Given the description of an element on the screen output the (x, y) to click on. 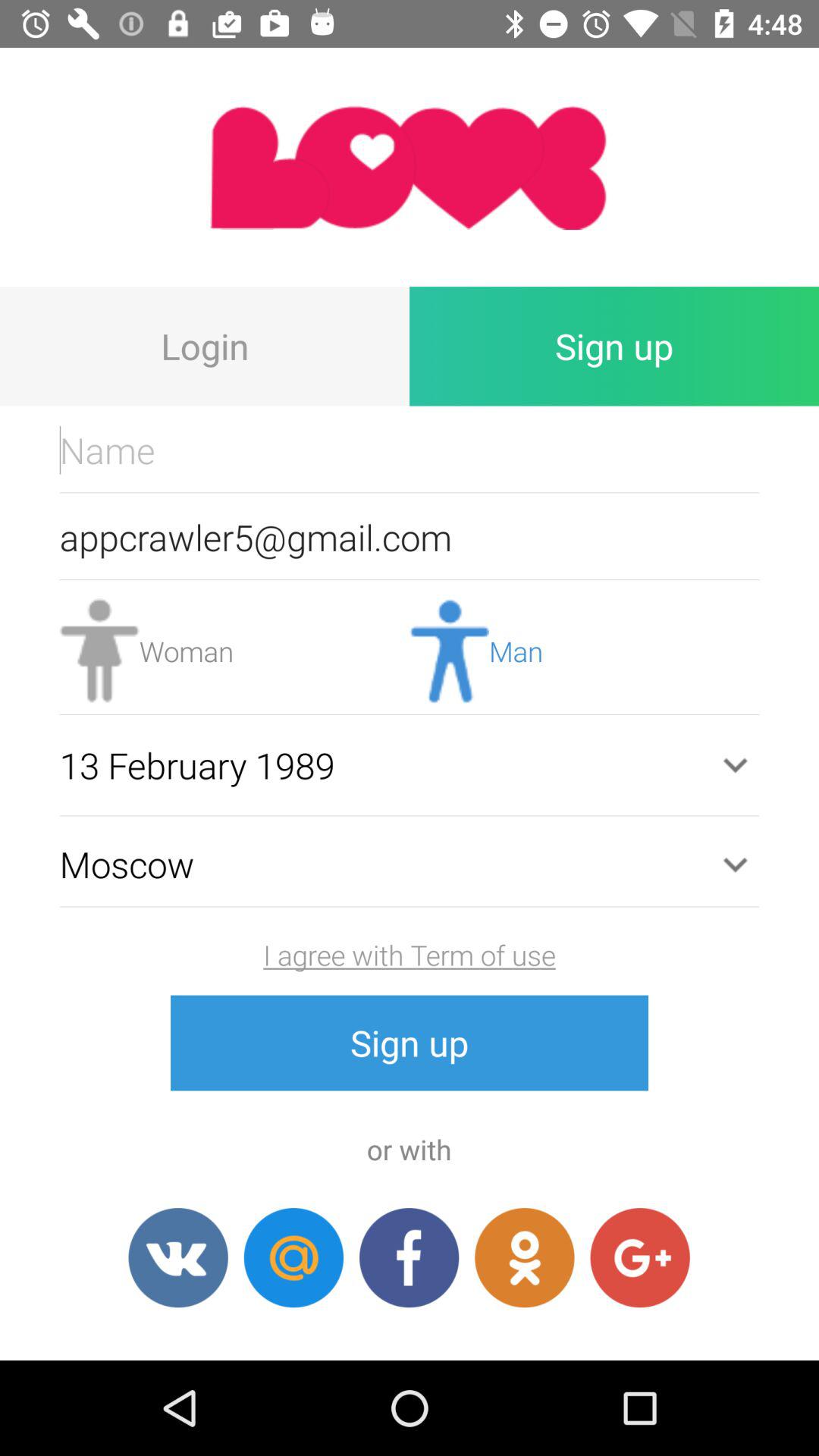
sign in with facebook (408, 1257)
